Given the description of an element on the screen output the (x, y) to click on. 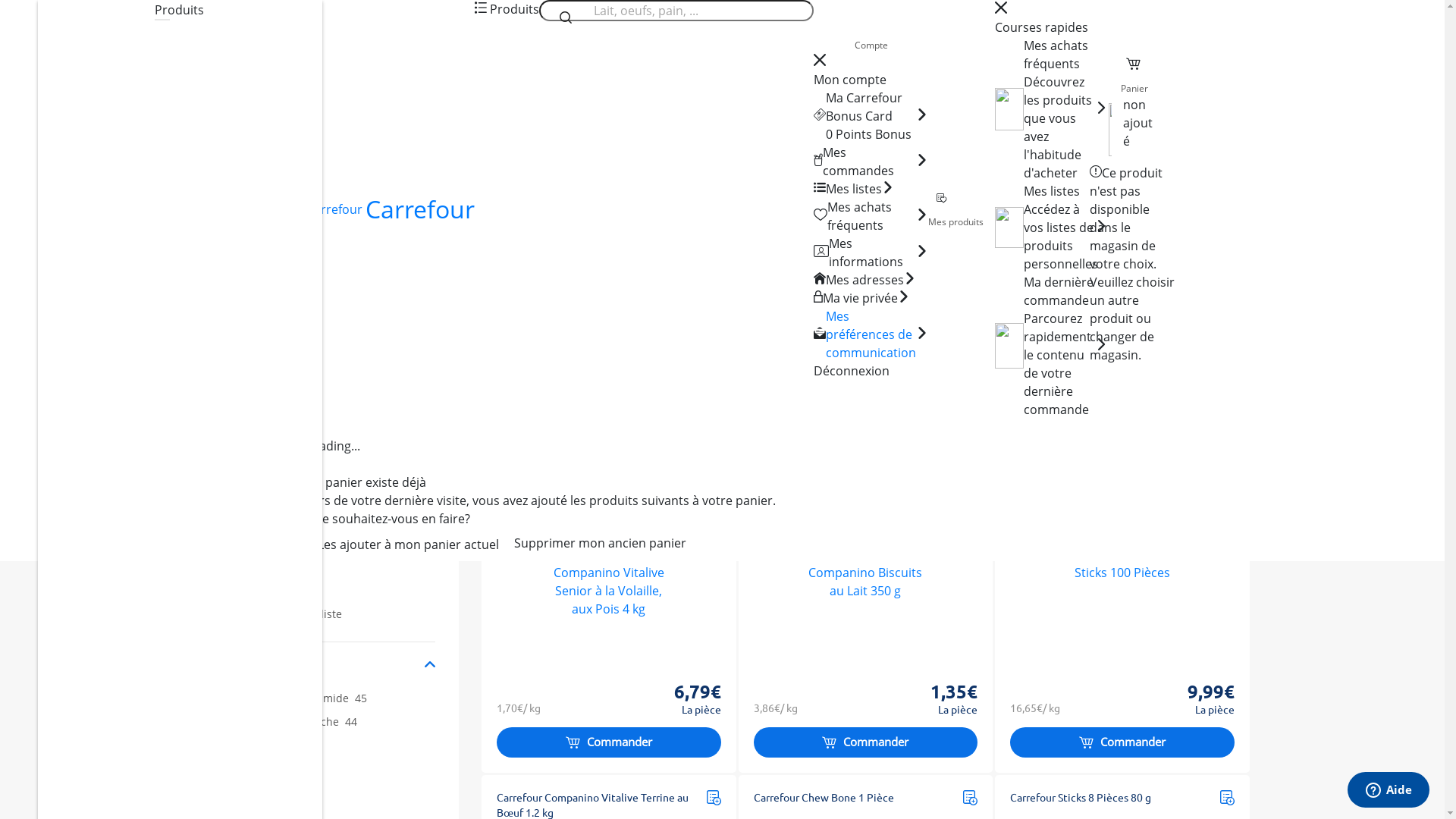
Faire un autre choix Element type: text (137, 234)
Carrefour Element type: text (384, 209)
Commander Element type: text (865, 742)
Commander Element type: text (608, 742)
NL Element type: text (1249, 79)
Supprimer mon ancien panier Element type: text (600, 542)
Animaux Element type: text (291, 267)
Inspiration   Element type: text (477, 79)
Promotions   Element type: text (300, 79)
Ma Carrefour Bonus Card Element type: text (870, 106)
Services   Element type: text (389, 79)
Carrefour Companino Biscuits au Lait 350 g Element type: hover (864, 572)
0 Points Bonus Element type: text (868, 134)
Chiens Element type: text (344, 267)
Mes informations Element type: text (872, 252)
Carrefour Companino Biscuits au Lait 350 g Element type: text (850, 507)
Barquettes alu Element type: text (281, 376)
Aide Element type: text (1388, 789)
Mes commandes Element type: text (869, 161)
Compte Element type: text (870, 45)
Mes listes Element type: text (853, 188)
Fermer Element type: text (32, 189)
Friandises Element type: text (810, 376)
Connectez-vous Element type: text (251, 539)
Croquettes Element type: text (635, 376)
Shop online Element type: text (235, 267)
Feedback Element type: text (1429, 491)
Mes adresses Element type: text (864, 279)
Commander Element type: text (1122, 742)
